Given the description of an element on the screen output the (x, y) to click on. 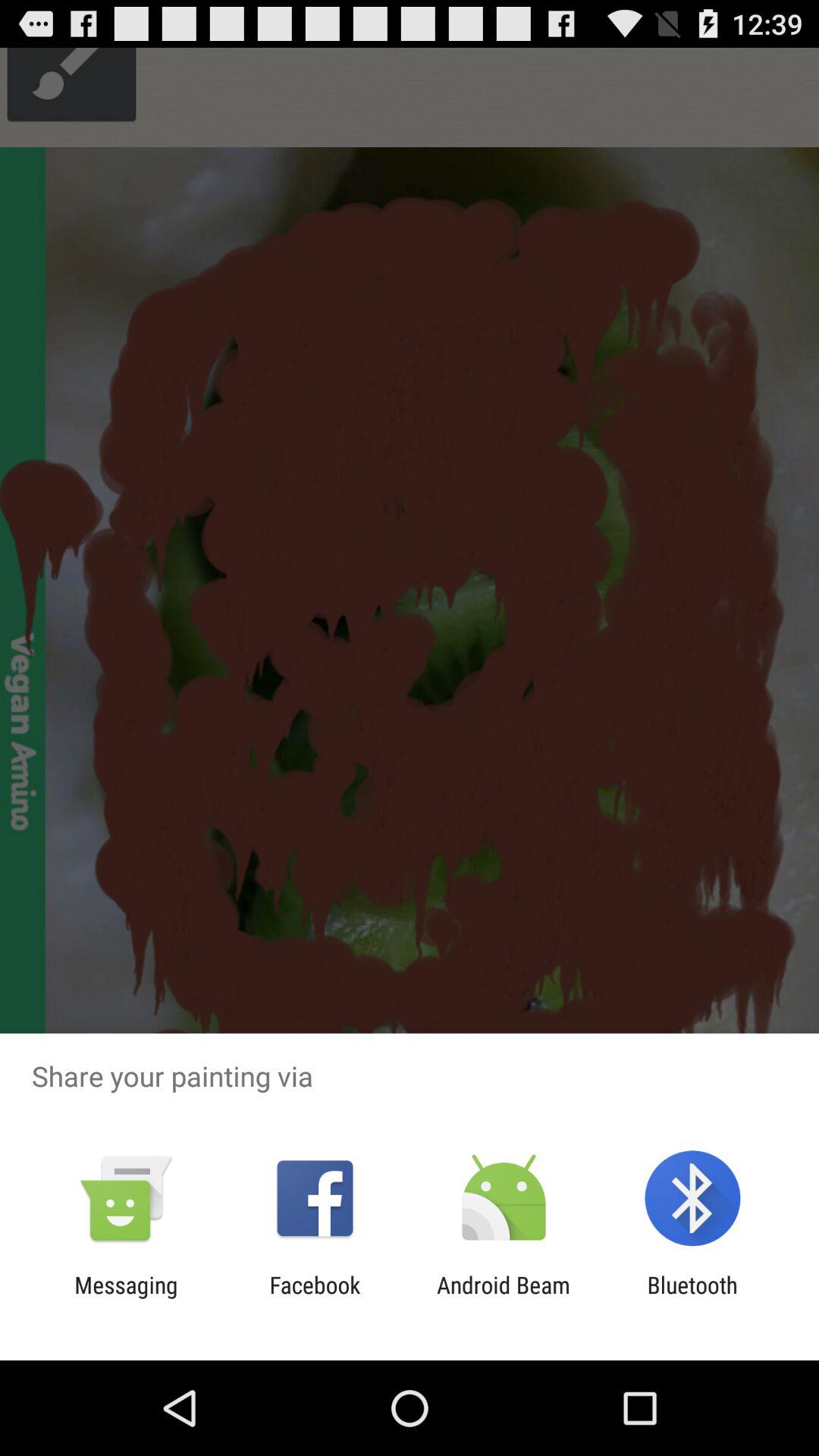
select icon next to the facebook item (503, 1298)
